Given the description of an element on the screen output the (x, y) to click on. 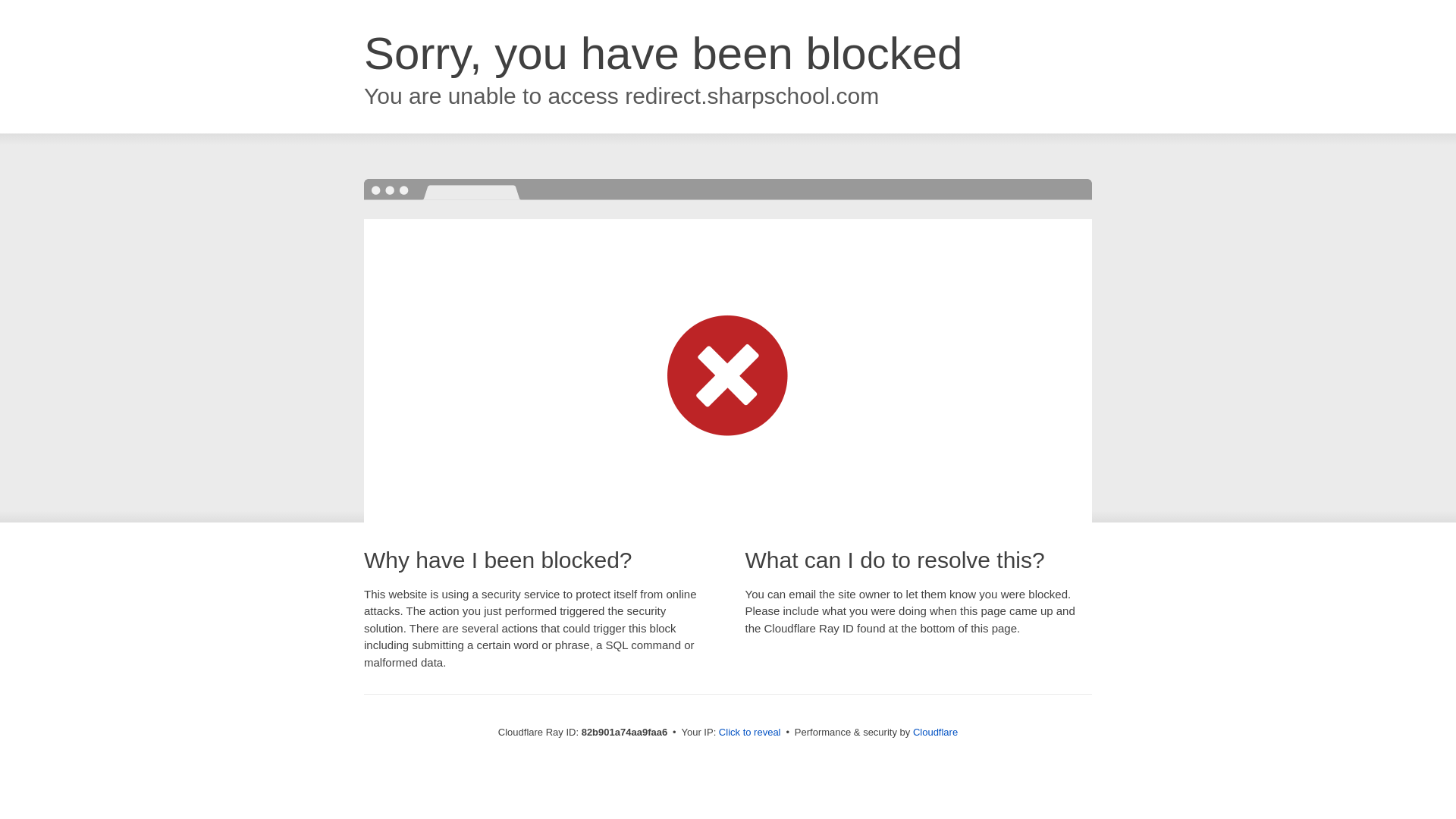
Cloudflare Element type: text (935, 731)
Click to reveal Element type: text (749, 732)
